Given the description of an element on the screen output the (x, y) to click on. 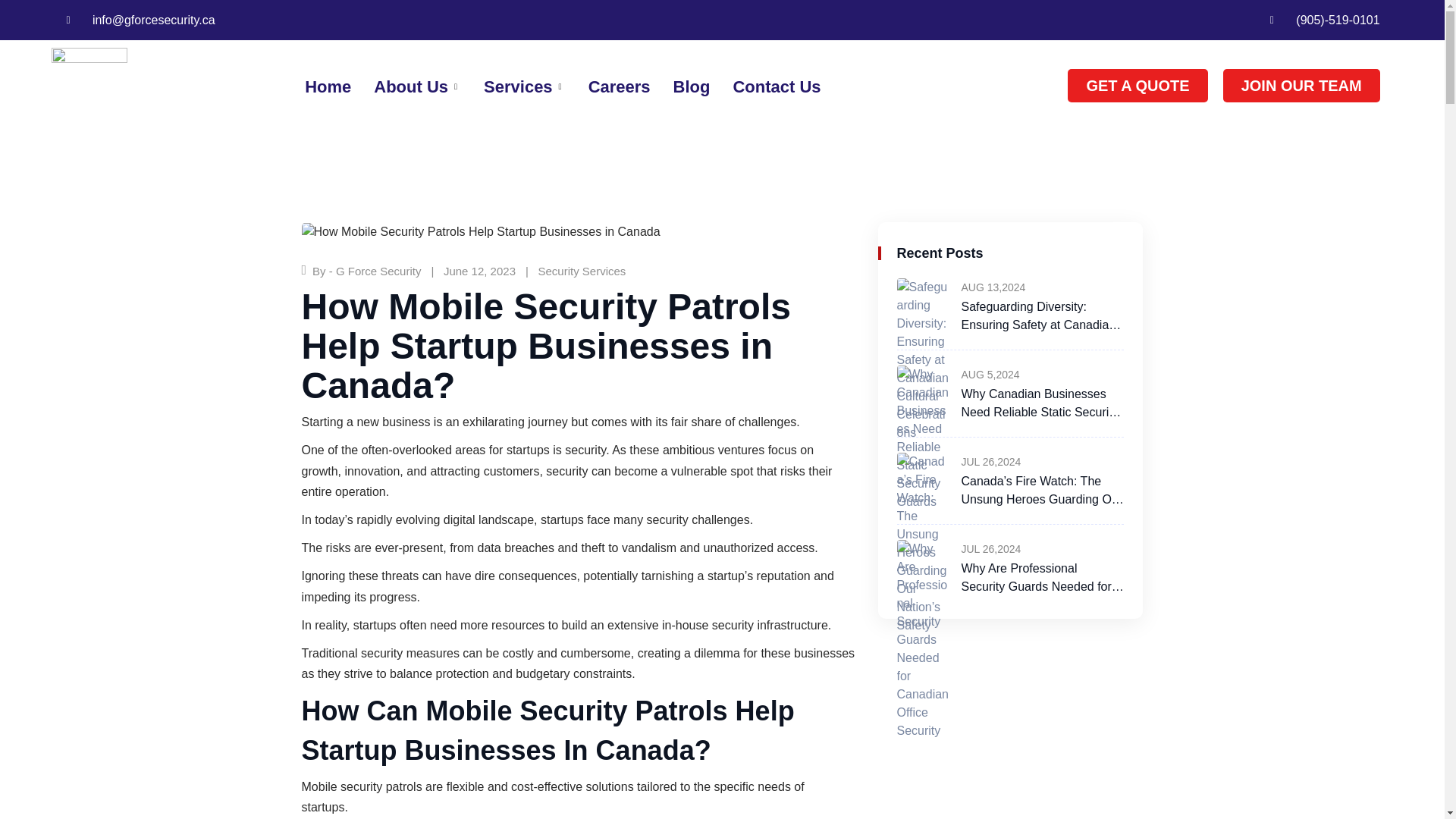
By - G Force Security (366, 270)
Contact Us (765, 86)
Security Services (581, 271)
June 12, 2023 (479, 270)
Home (316, 86)
Blog (680, 86)
JOIN OUR TEAM (1301, 85)
About Us (405, 86)
Careers (608, 86)
GET A QUOTE (1137, 85)
